Given the description of an element on the screen output the (x, y) to click on. 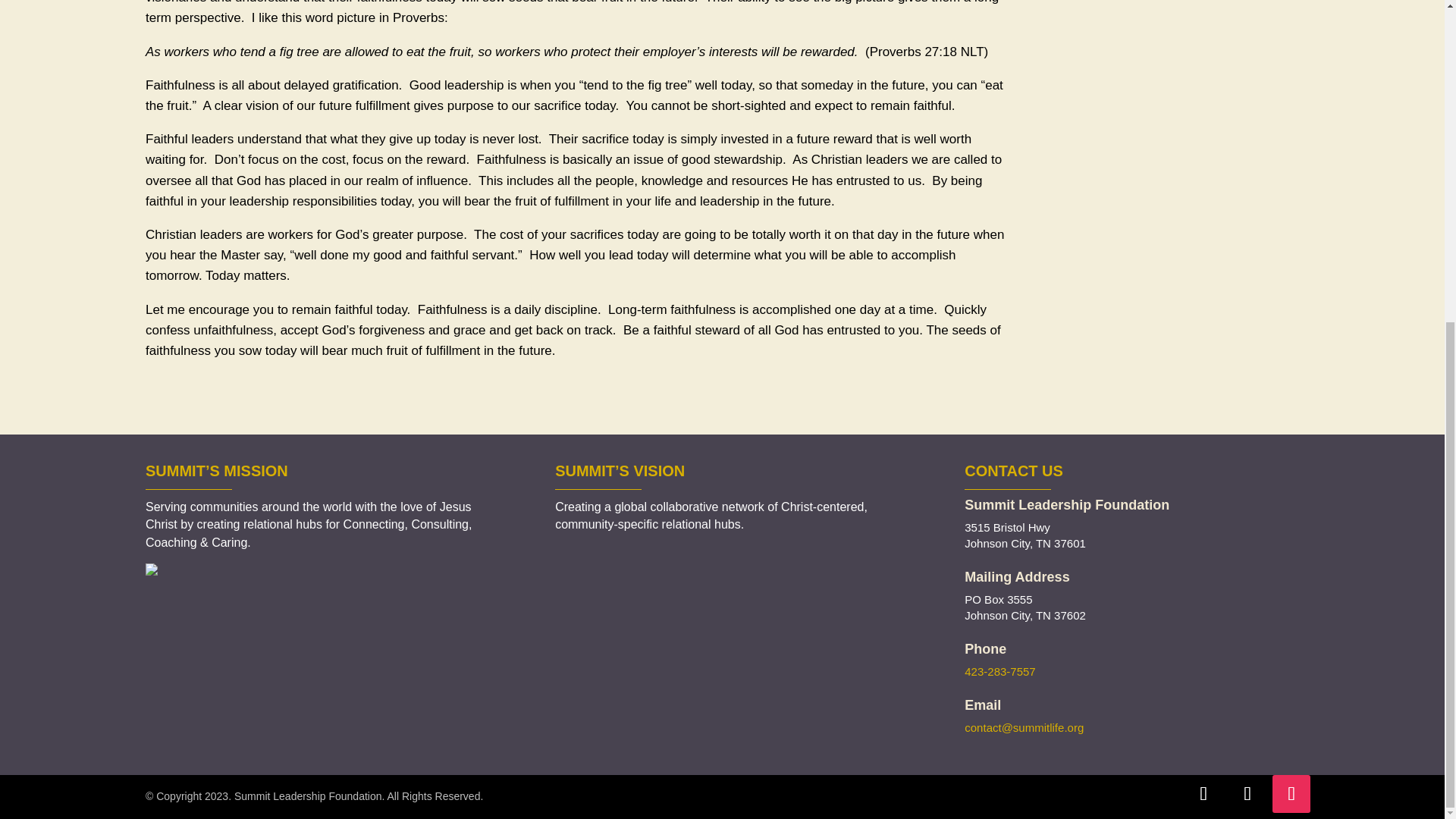
Follow on Facebook (1204, 792)
Follow on Instagram (1291, 792)
Follow on LinkedIn (1247, 792)
